Given the description of an element on the screen output the (x, y) to click on. 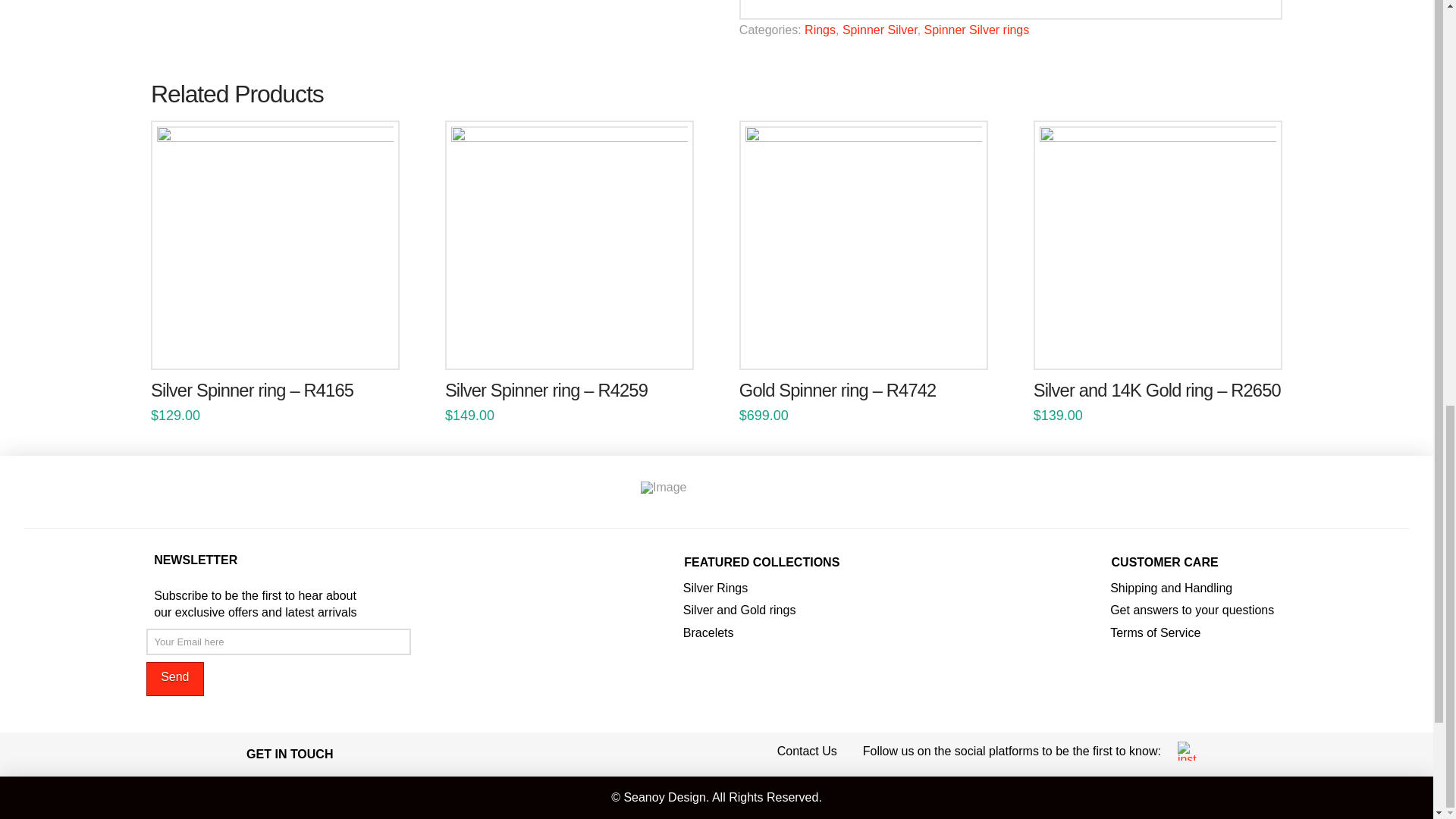
Send (175, 678)
